Given the description of an element on the screen output the (x, y) to click on. 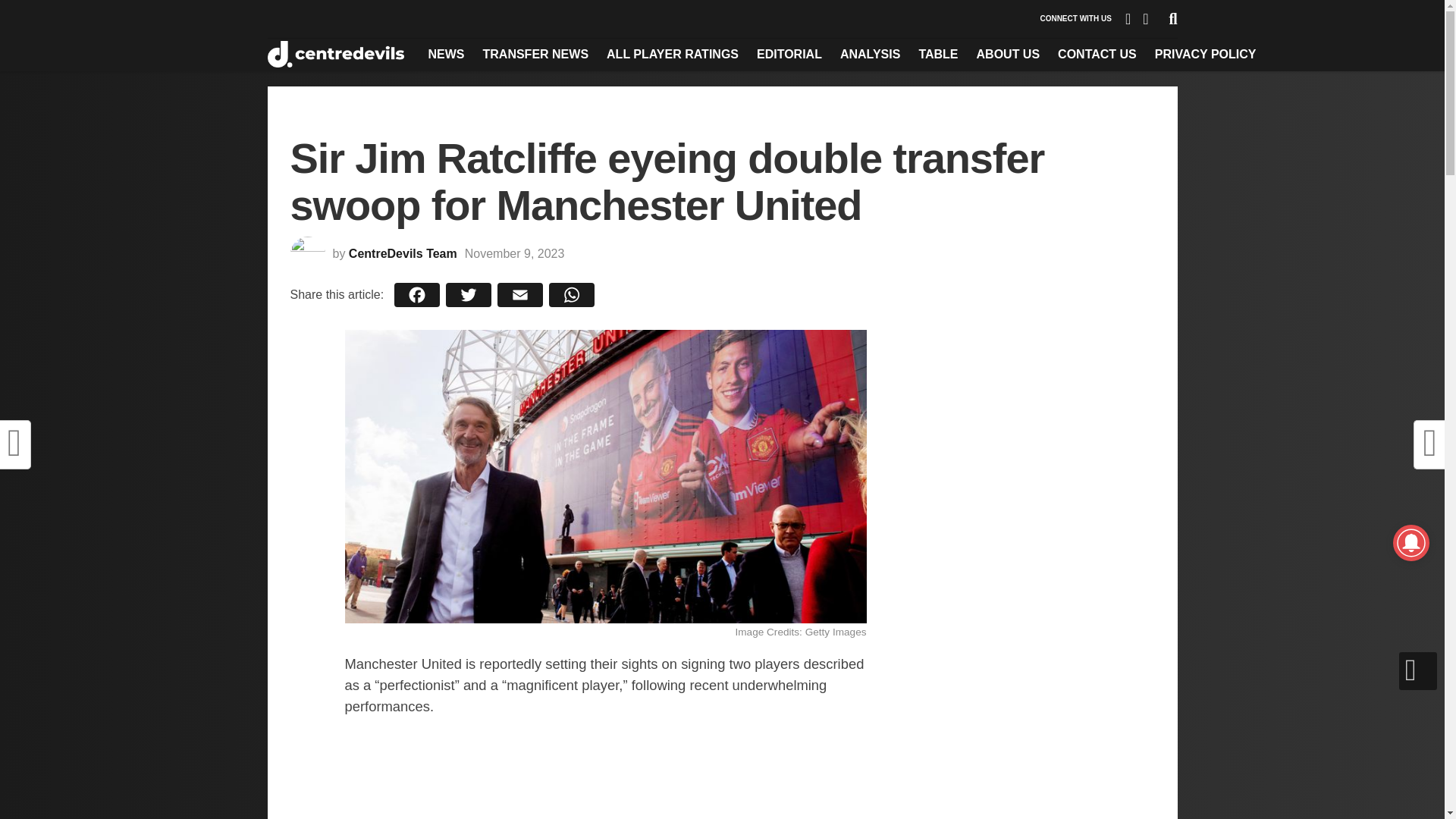
WhatsApp (571, 294)
CentreDevils Team (403, 253)
Facebook (416, 294)
WhatsApp (571, 294)
ABOUT US (1008, 54)
Posts by CentreDevils Team (403, 253)
PRIVACY POLICY (1205, 54)
NEWS (446, 54)
TRANSFER NEWS (534, 54)
Email (520, 294)
Twitter (468, 294)
ANALYSIS (869, 54)
ALL PLAYER RATINGS (672, 54)
Facebook (416, 294)
Email (520, 294)
